Given the description of an element on the screen output the (x, y) to click on. 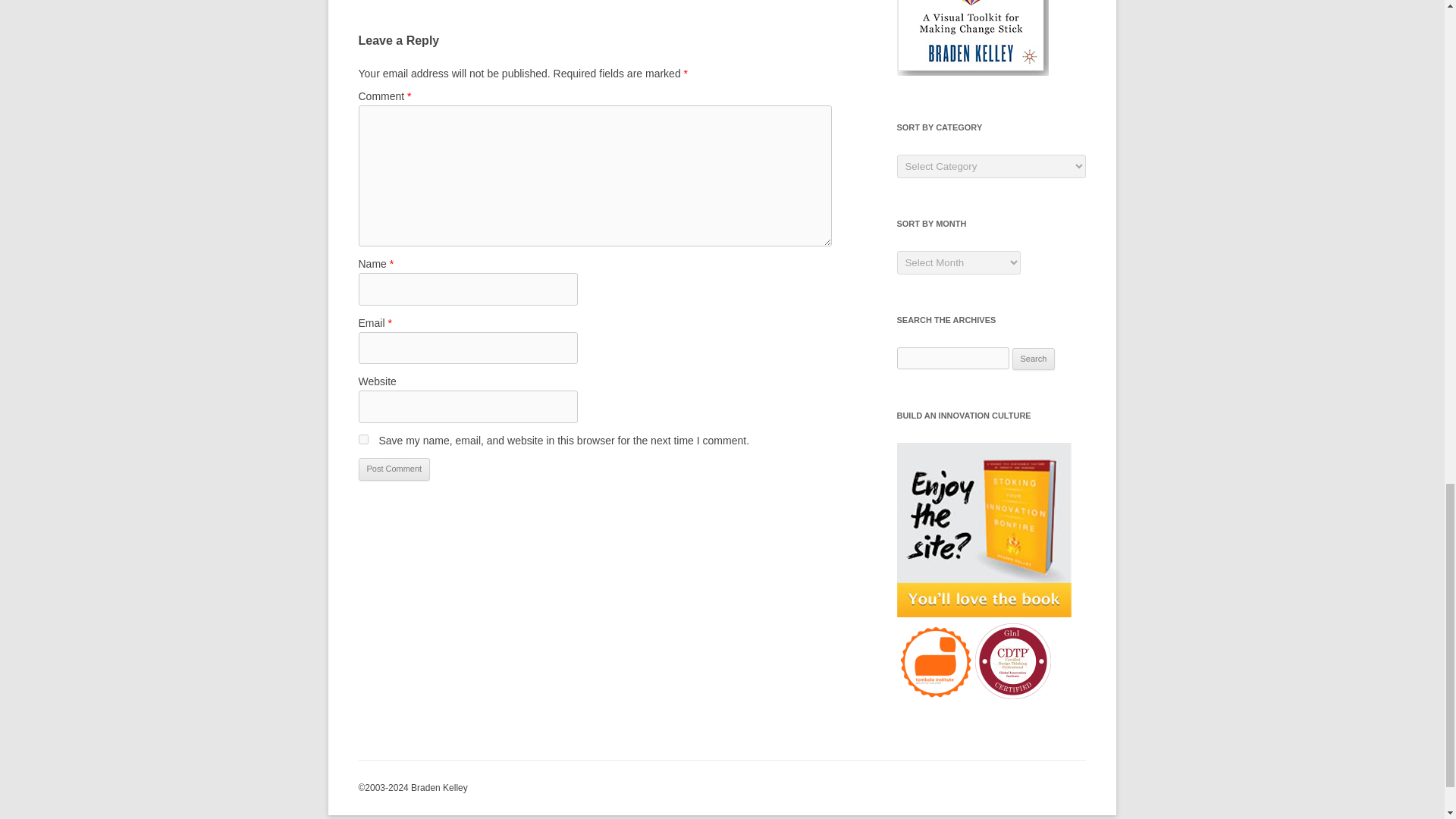
Search (1033, 359)
Post Comment (393, 468)
yes (363, 439)
